Given the description of an element on the screen output the (x, y) to click on. 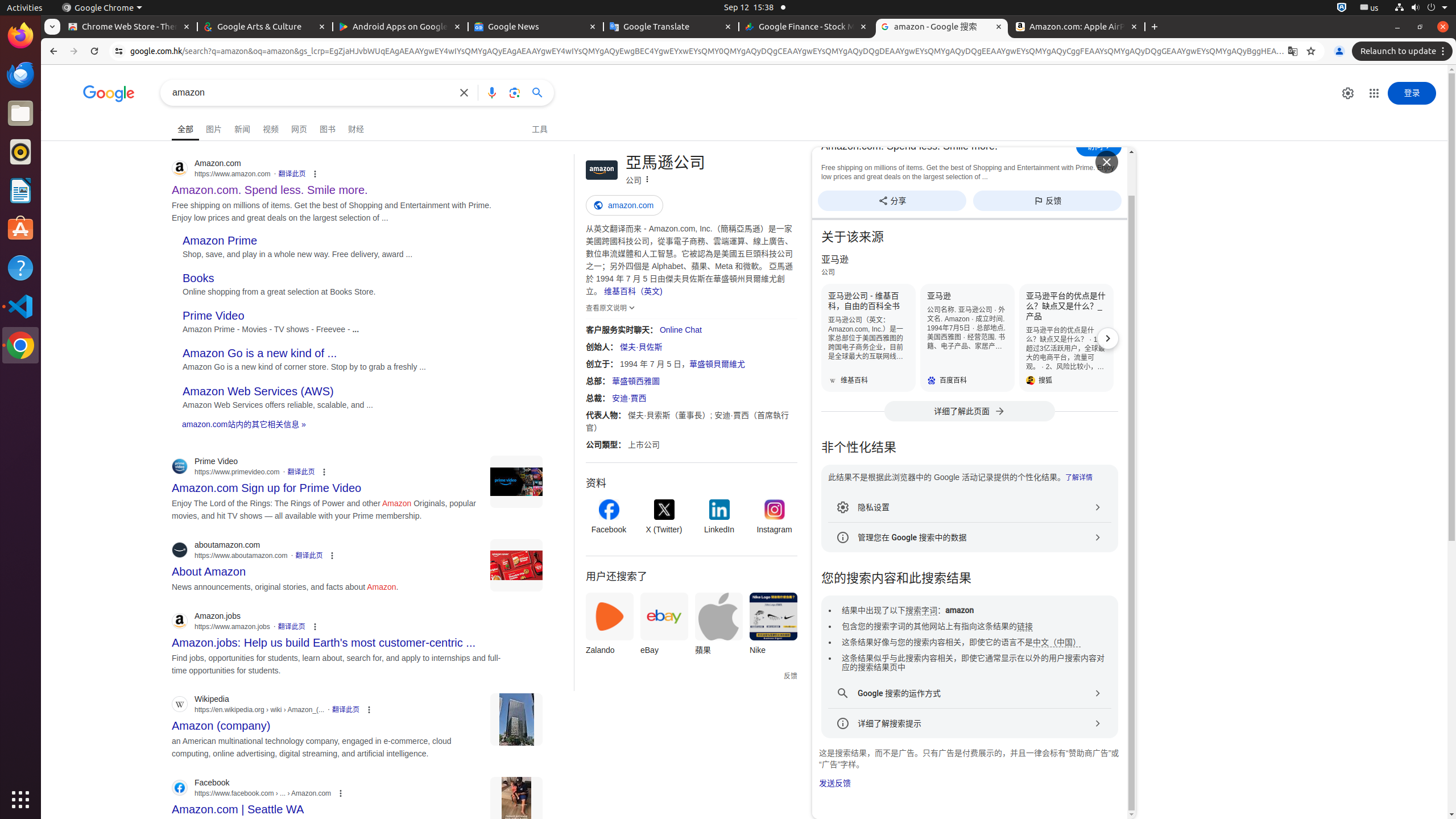
Bookmark this tab Element type: push-button (1310, 51)
Firefox Web Browser Element type: push-button (20, 35)
Online Chat Element type: link (680, 329)
Translate this page Element type: push-button (1292, 51)
Amazon Prime Element type: link (219, 239)
